Given the description of an element on the screen output the (x, y) to click on. 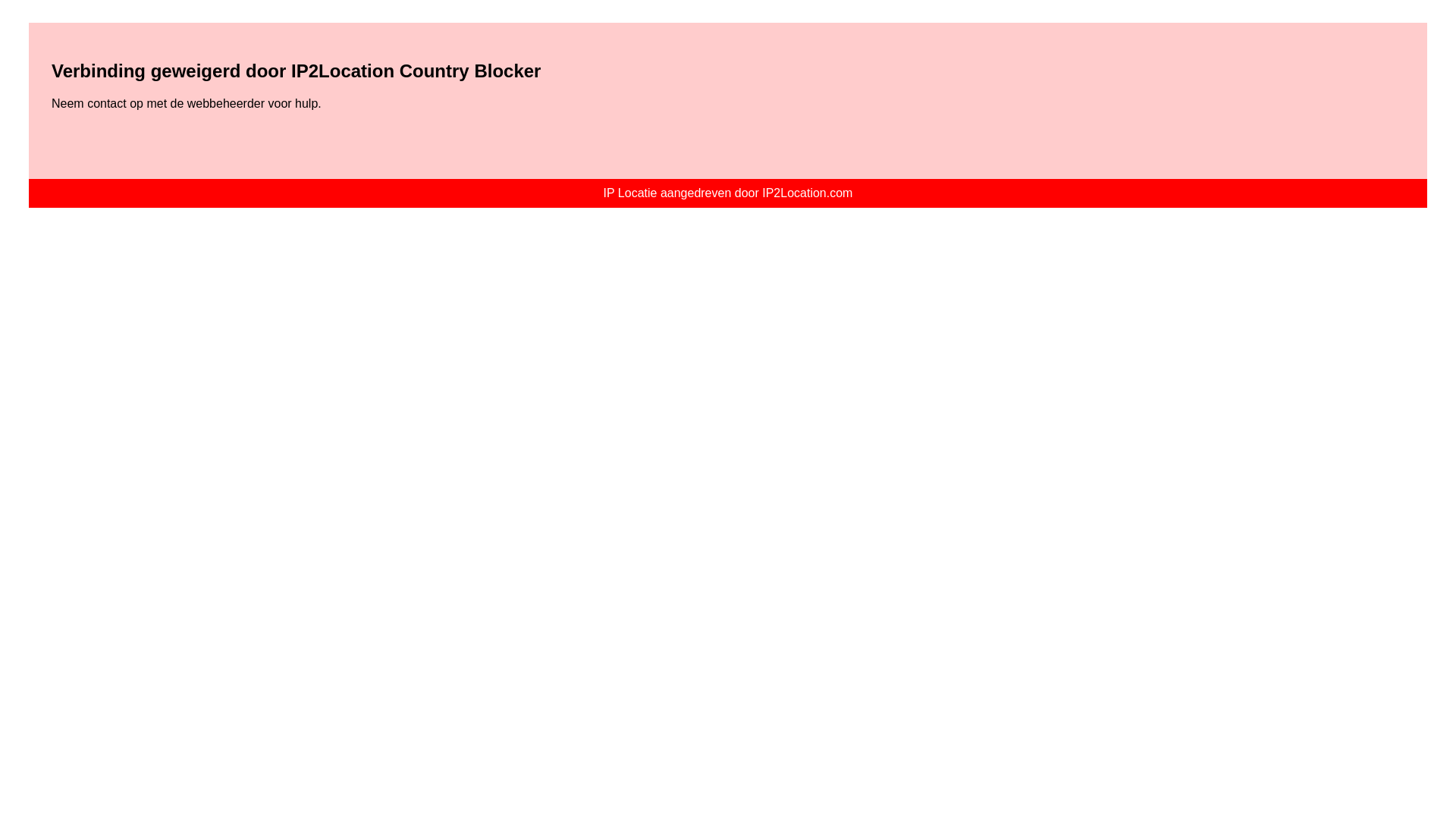
IP Locatie aangedreven door IP2Location.com Element type: text (728, 192)
